Given the description of an element on the screen output the (x, y) to click on. 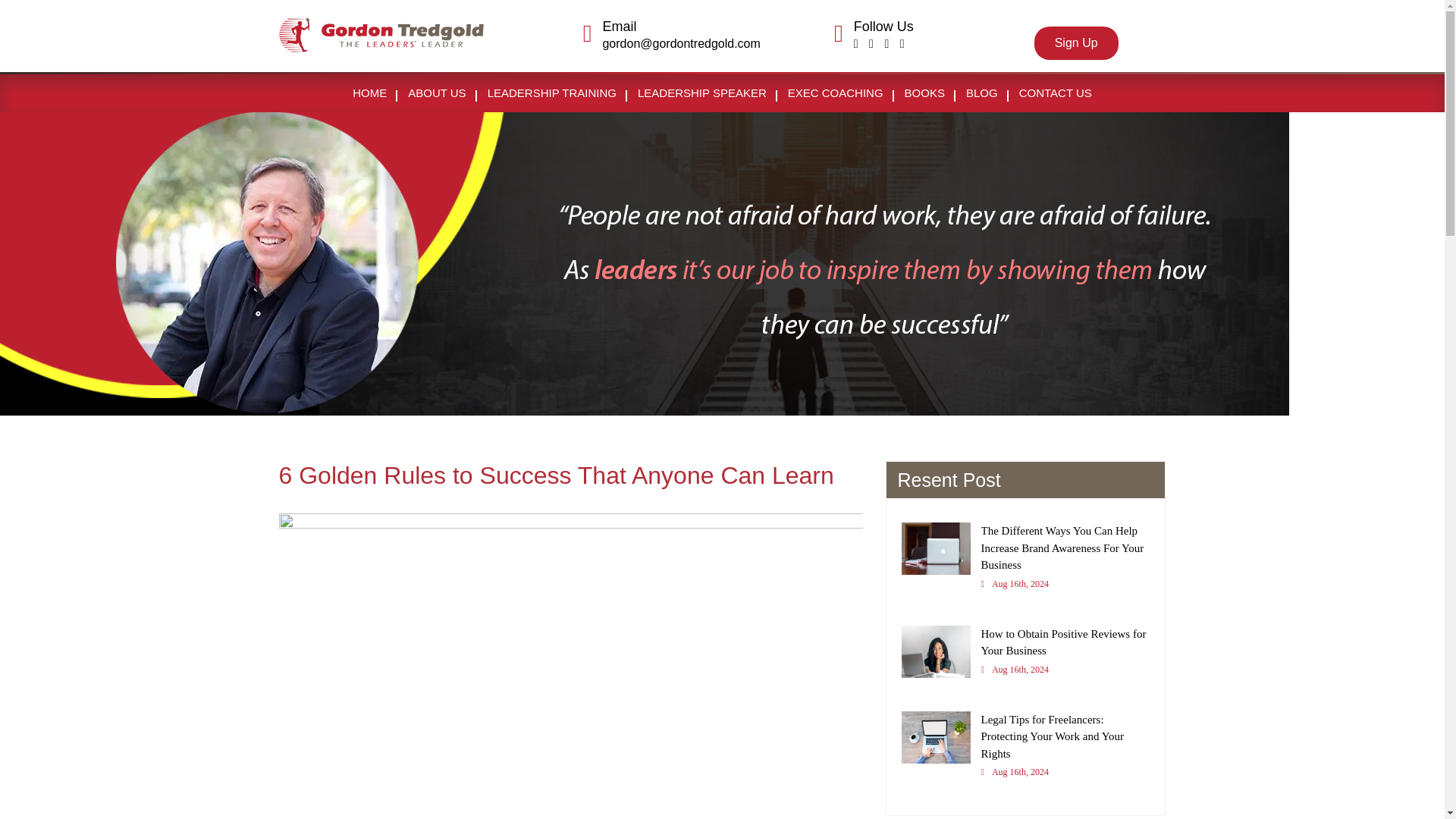
CONTACT US (1055, 92)
LEADERSHIP SPEAKER (702, 92)
LEADERSHIP TRAINING (552, 92)
ABOUT US (436, 92)
EXEC COACHING (835, 92)
Sign Up (1075, 42)
BOOKS (924, 92)
BLOG (982, 92)
